Given the description of an element on the screen output the (x, y) to click on. 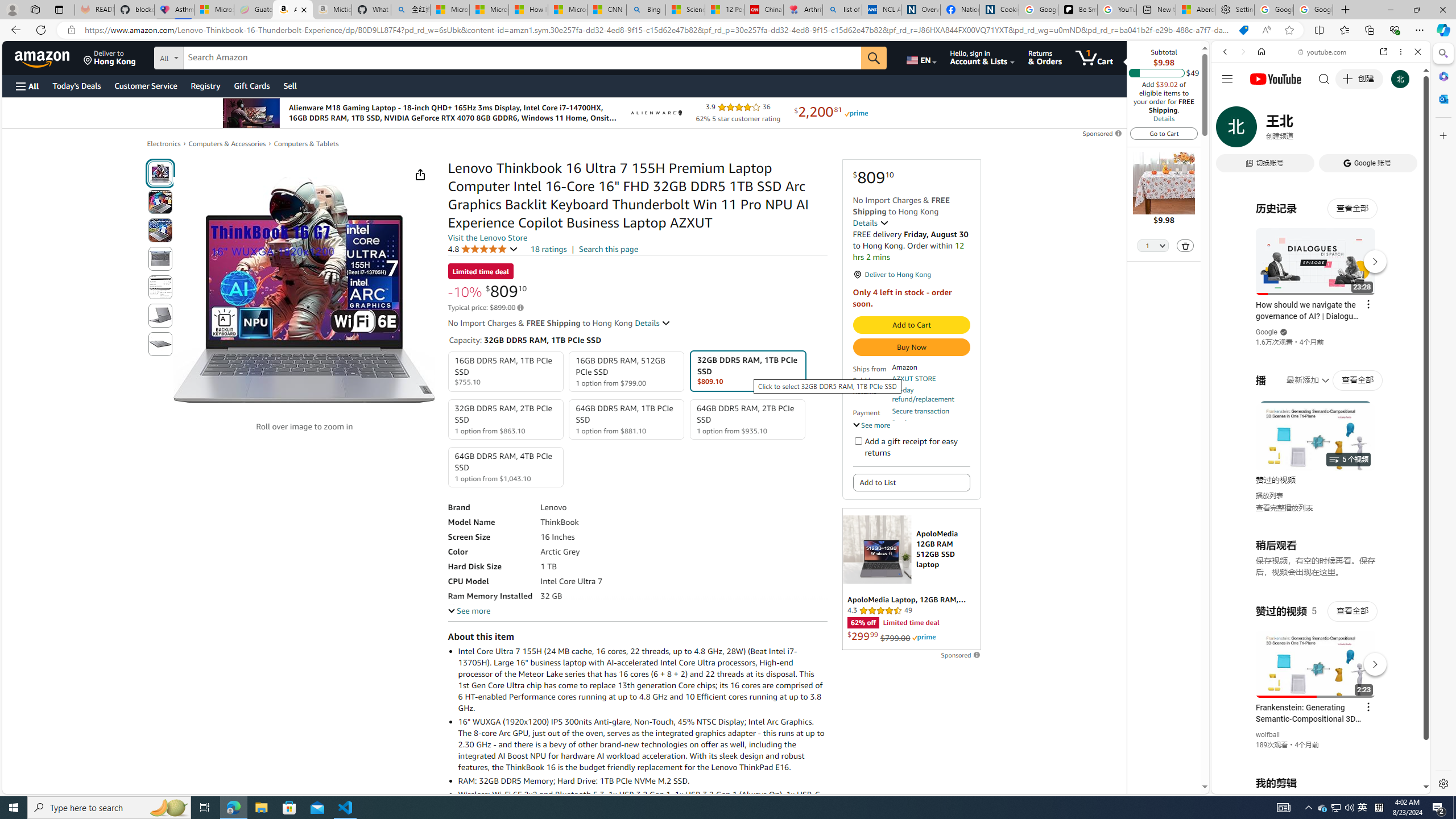
Trailer #2 [HD] (1320, 336)
16GB DDR5 RAM, 512GB PCIe SSD 1 option from $799.00 (626, 371)
Buy Now (911, 347)
Class: dict_pnIcon rms_img (1312, 784)
32GB DDR5 RAM, 1TB PCIe SSD $809.10 (747, 370)
